Given the description of an element on the screen output the (x, y) to click on. 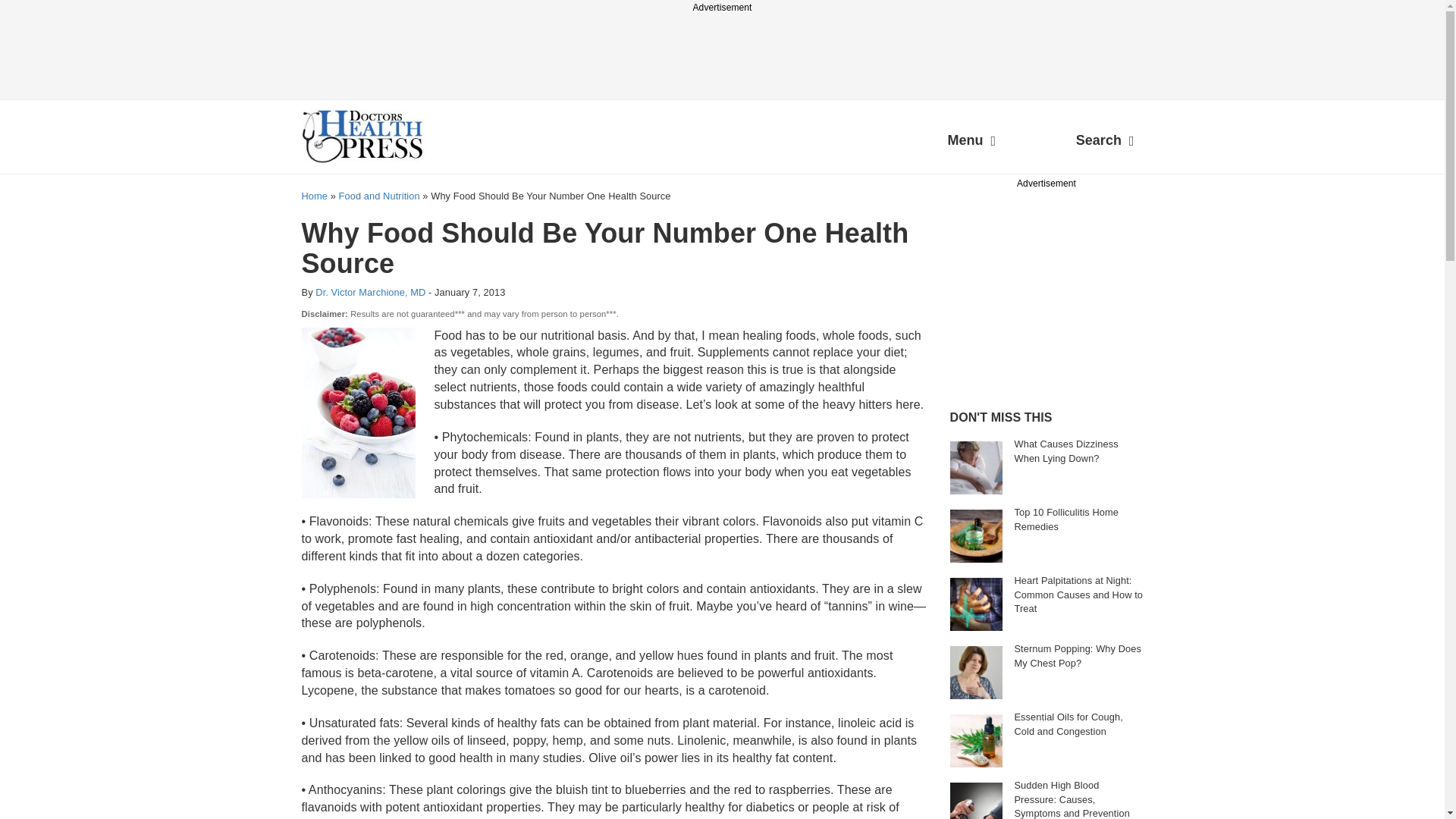
Menu (970, 142)
Advertisement (1062, 286)
Advertisement (721, 49)
Search (1104, 142)
Posts by Dr. Victor Marchione, MD (370, 292)
